Given the description of an element on the screen output the (x, y) to click on. 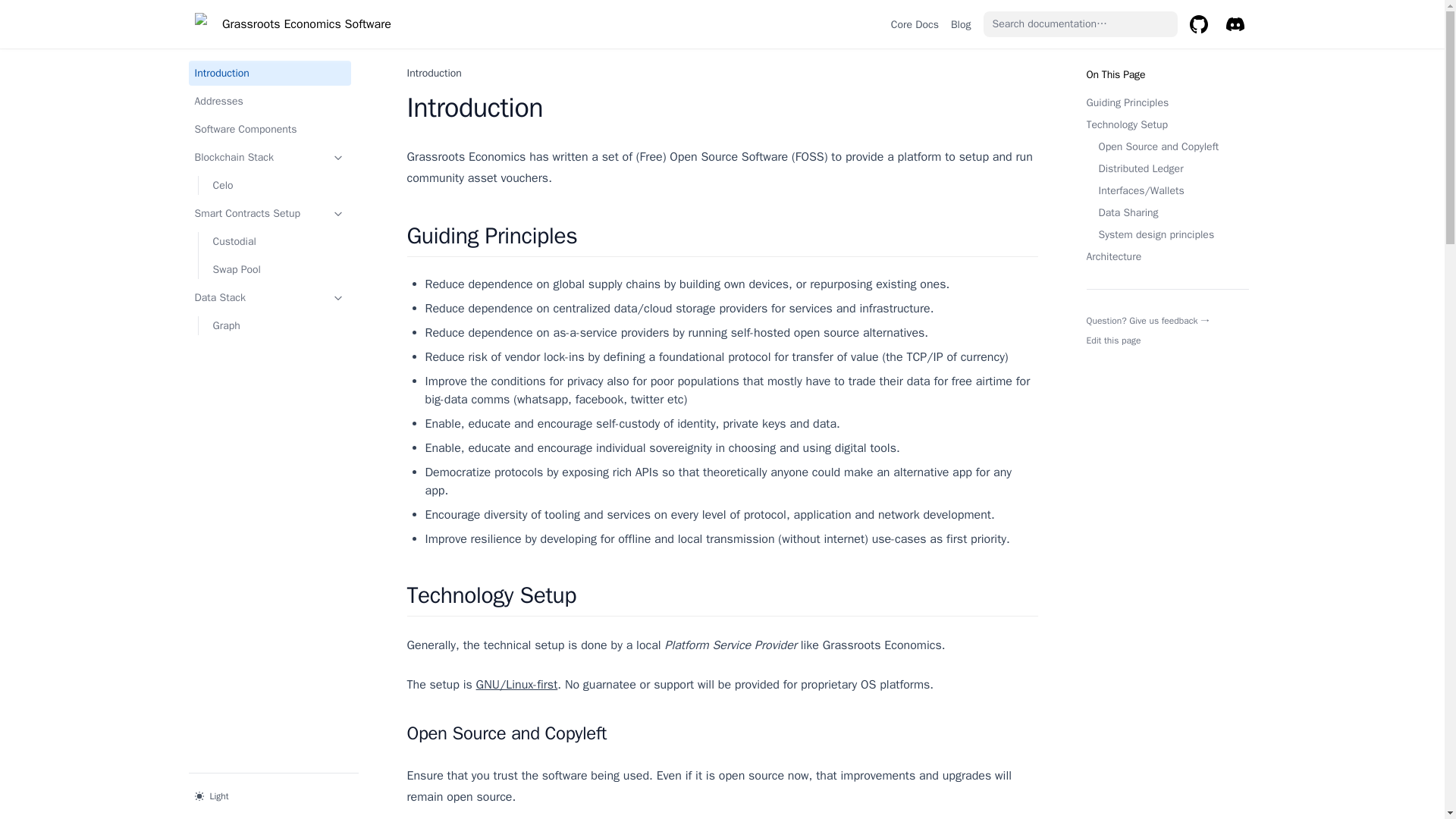
Edit this page (1113, 340)
Distributed Ledger (1166, 168)
Open Source and Copyleft (1166, 146)
Software Components (268, 129)
Grassroots Economics Software (291, 24)
Addresses (268, 100)
Introduction (268, 72)
Architecture (1166, 256)
Guiding Principles (1166, 102)
Technology Setup (1166, 124)
